Given the description of an element on the screen output the (x, y) to click on. 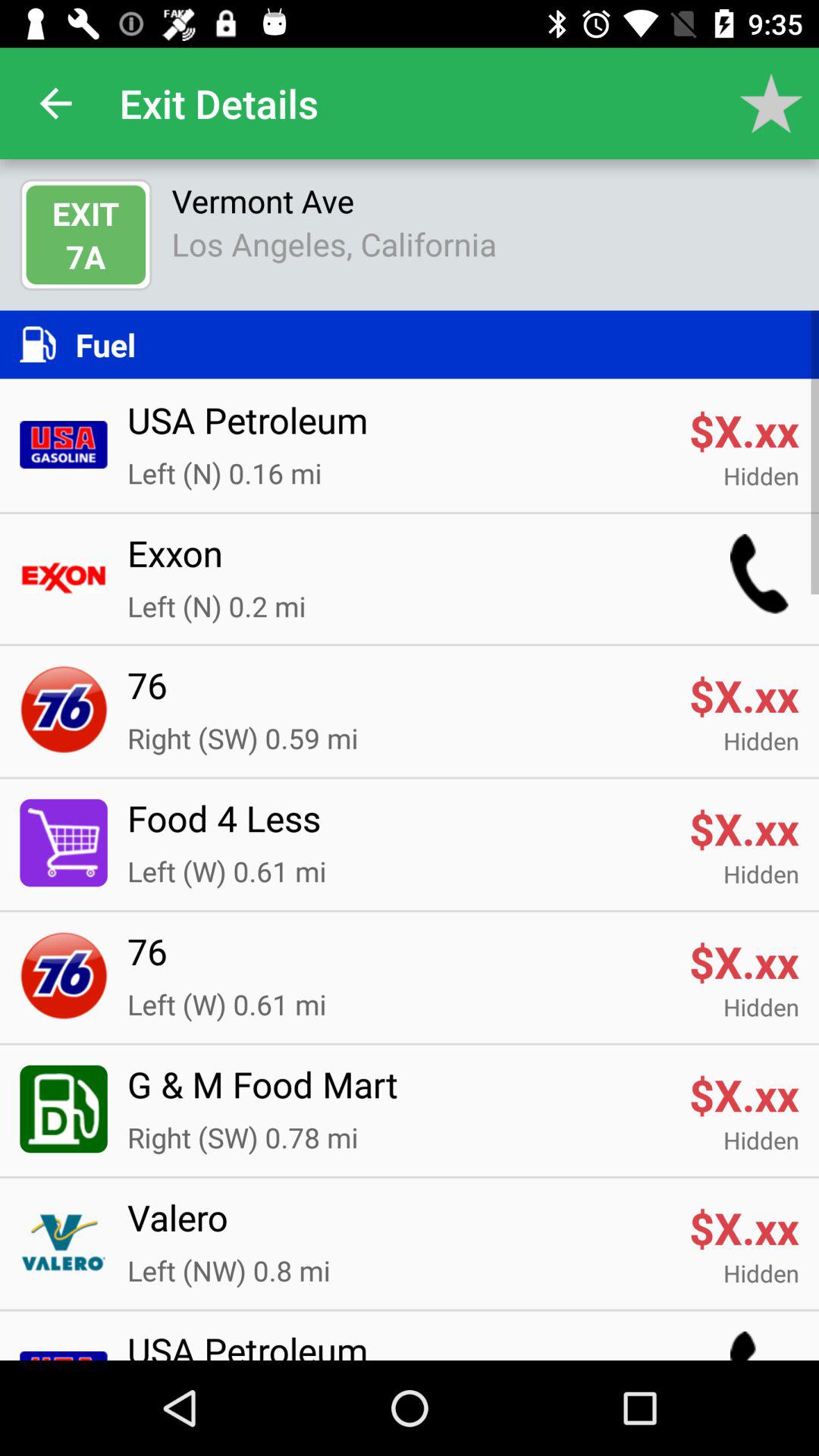
launch icon next to the $x.xx icon (398, 1226)
